Given the description of an element on the screen output the (x, y) to click on. 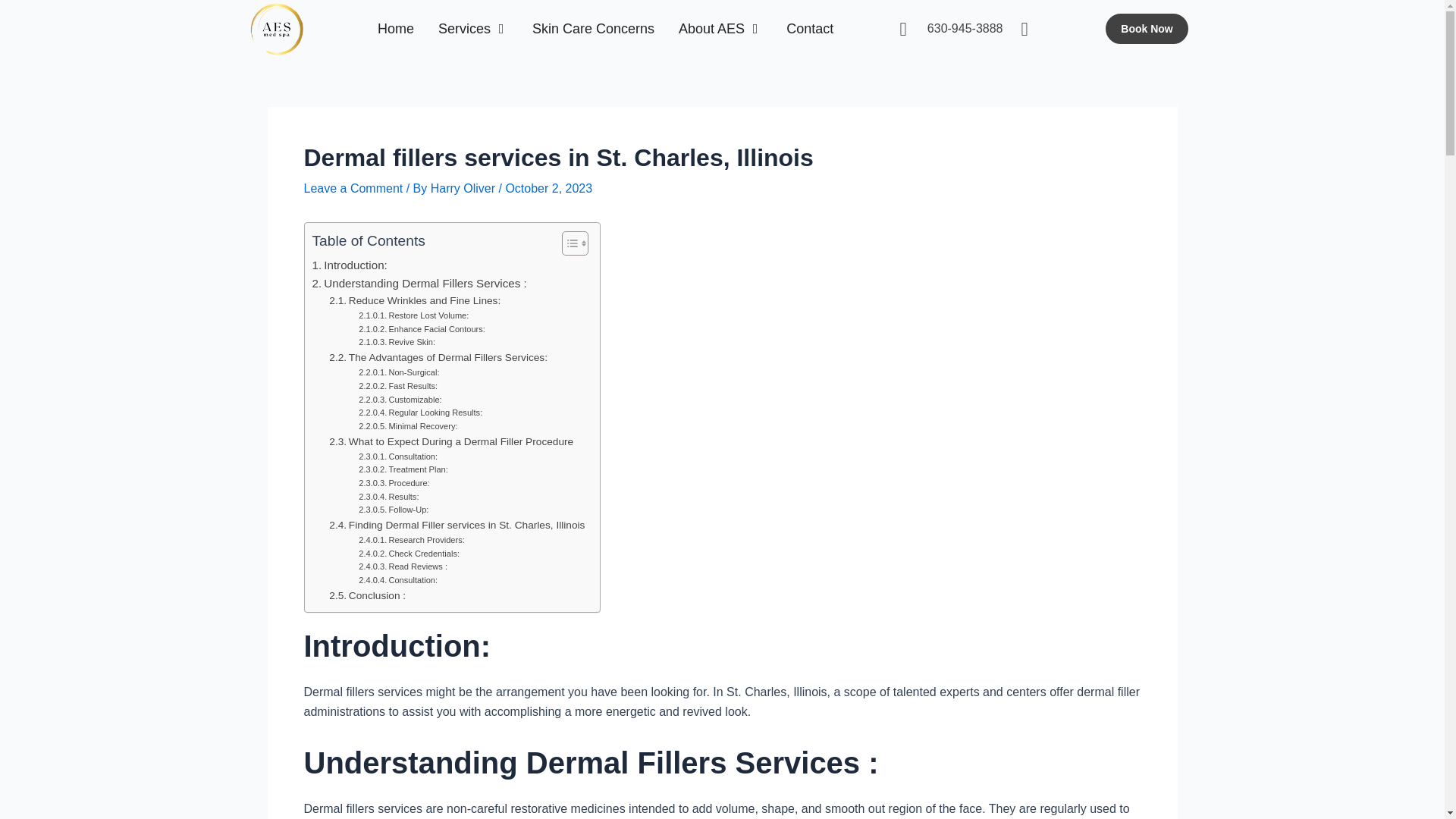
Understanding Dermal Fillers Services : (420, 283)
Non-Surgical: (398, 373)
Contact (809, 28)
Reduce Wrinkles and Fine Lines: (414, 300)
View all posts by Harry Oliver (464, 187)
Fast Results: (398, 386)
Restore Lost Volume: (413, 315)
Enhance Facial Contours: (421, 329)
What to Expect During a Dermal Filler Procedure (451, 442)
Introduction: (350, 265)
Skin Care Concerns (592, 28)
The Advantages of Dermal Fillers Services: (438, 357)
Customizable: (399, 400)
Services (464, 28)
Minimal Recovery: (407, 427)
